Given the description of an element on the screen output the (x, y) to click on. 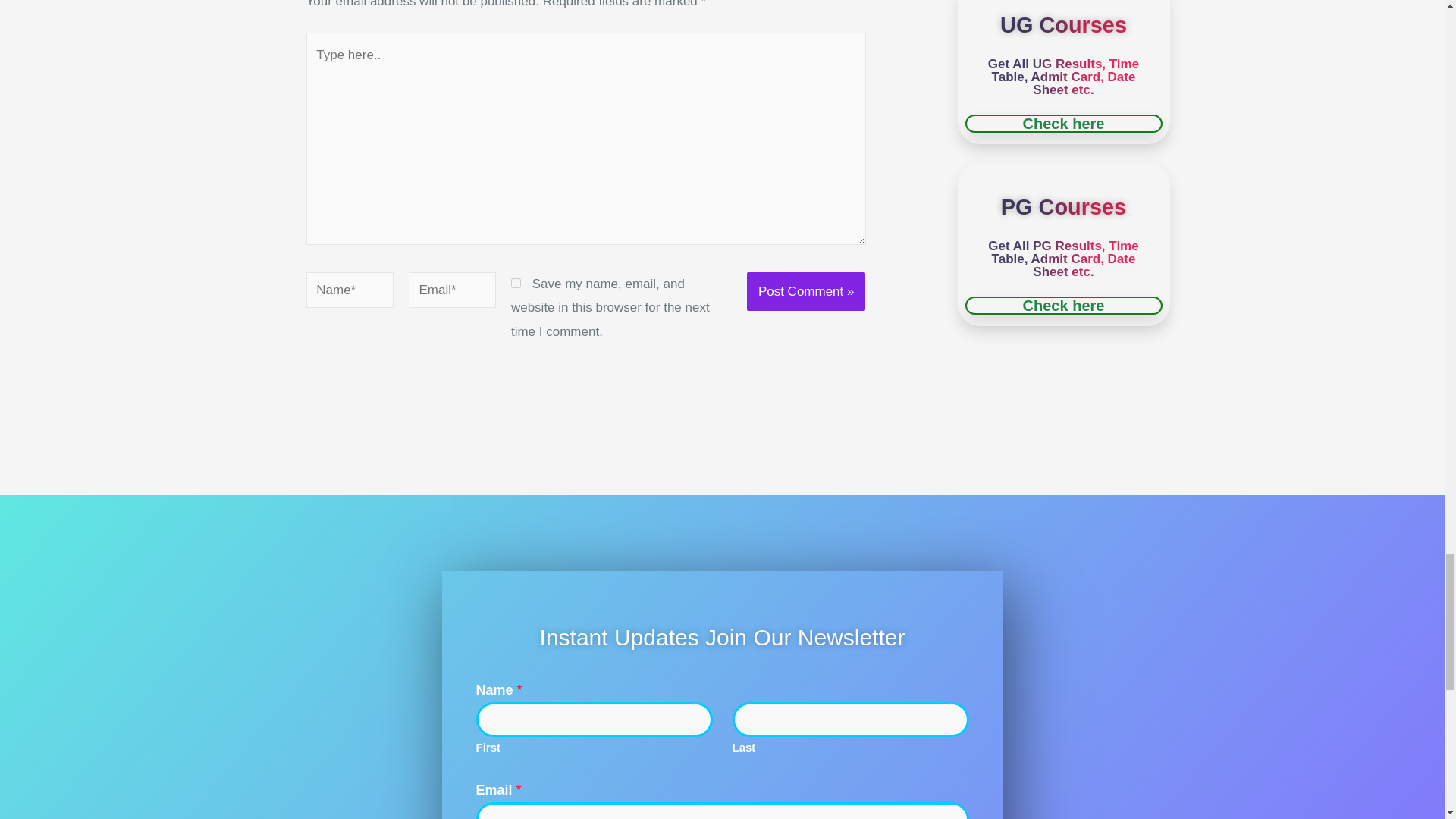
yes (516, 283)
